Given the description of an element on the screen output the (x, y) to click on. 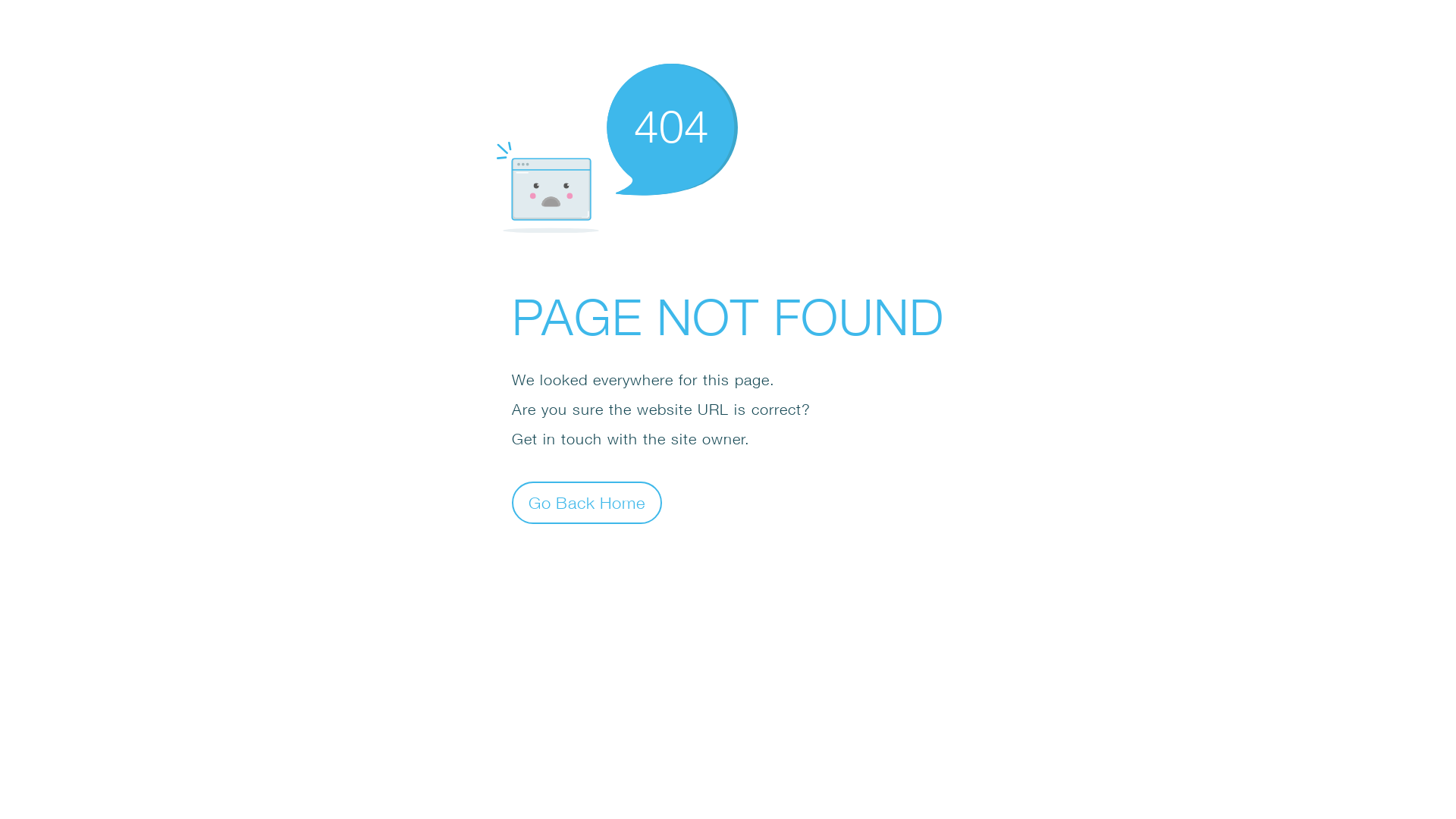
Go Back Home Element type: text (586, 502)
